Given the description of an element on the screen output the (x, y) to click on. 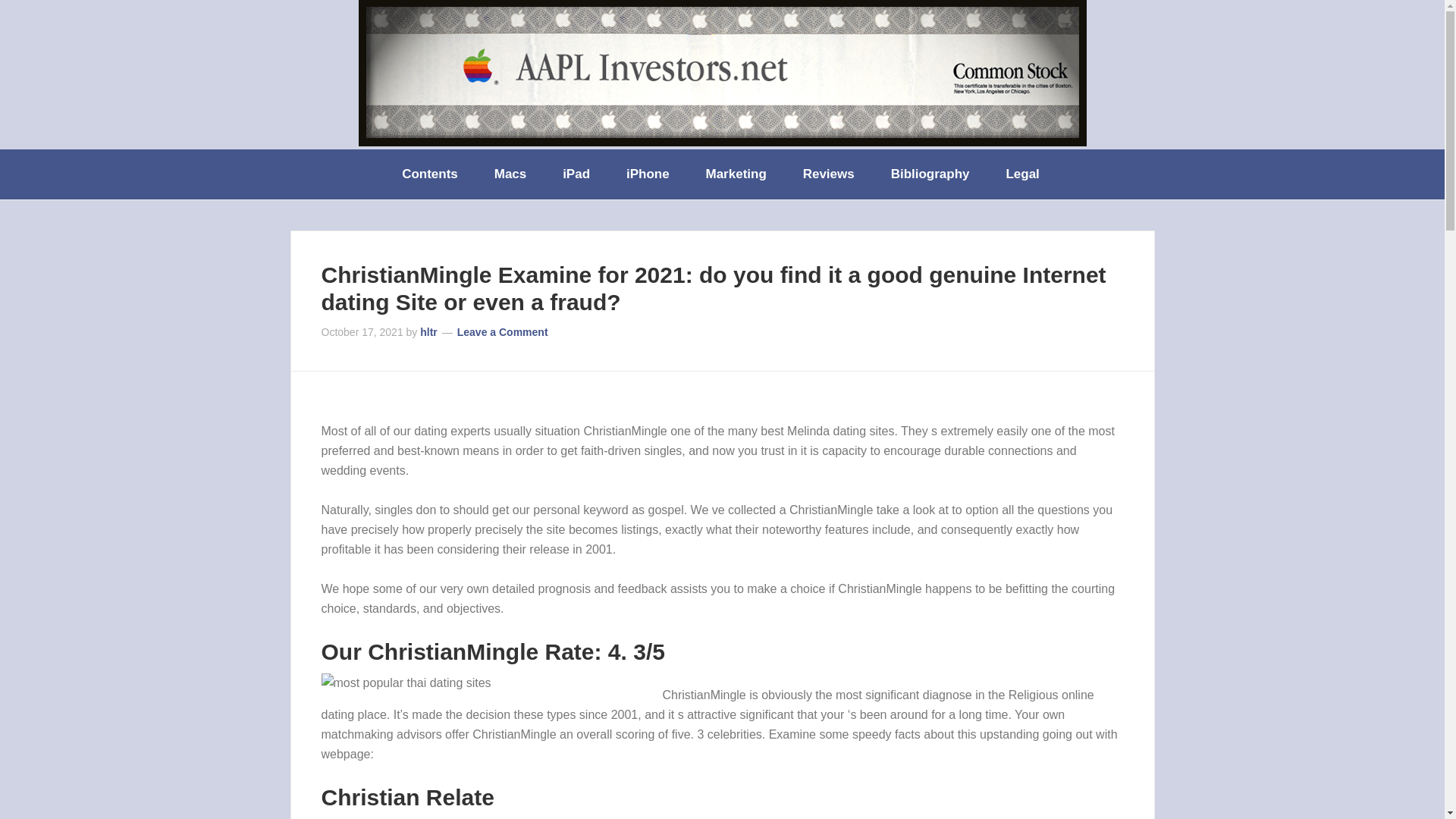
Reviews (829, 174)
iPhone (649, 174)
Contents (431, 174)
Legal (1023, 174)
Marketing (737, 174)
Macs (511, 174)
Leave a Comment (502, 331)
Bibliography (932, 174)
AAPLinvestors (721, 73)
hltr (429, 331)
iPad (577, 174)
